Given the description of an element on the screen output the (x, y) to click on. 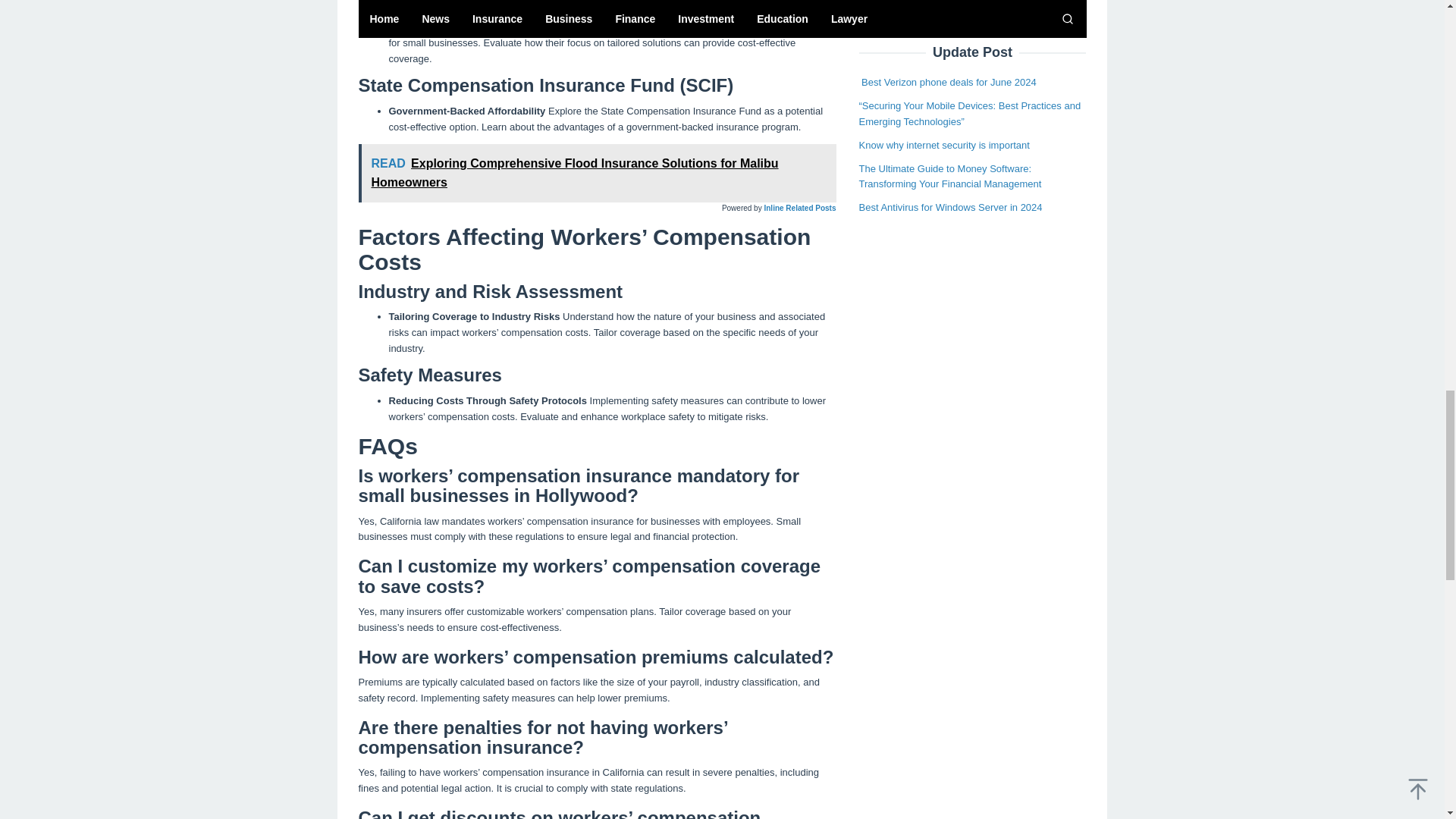
Inline Related Posts (798, 207)
